Given the description of an element on the screen output the (x, y) to click on. 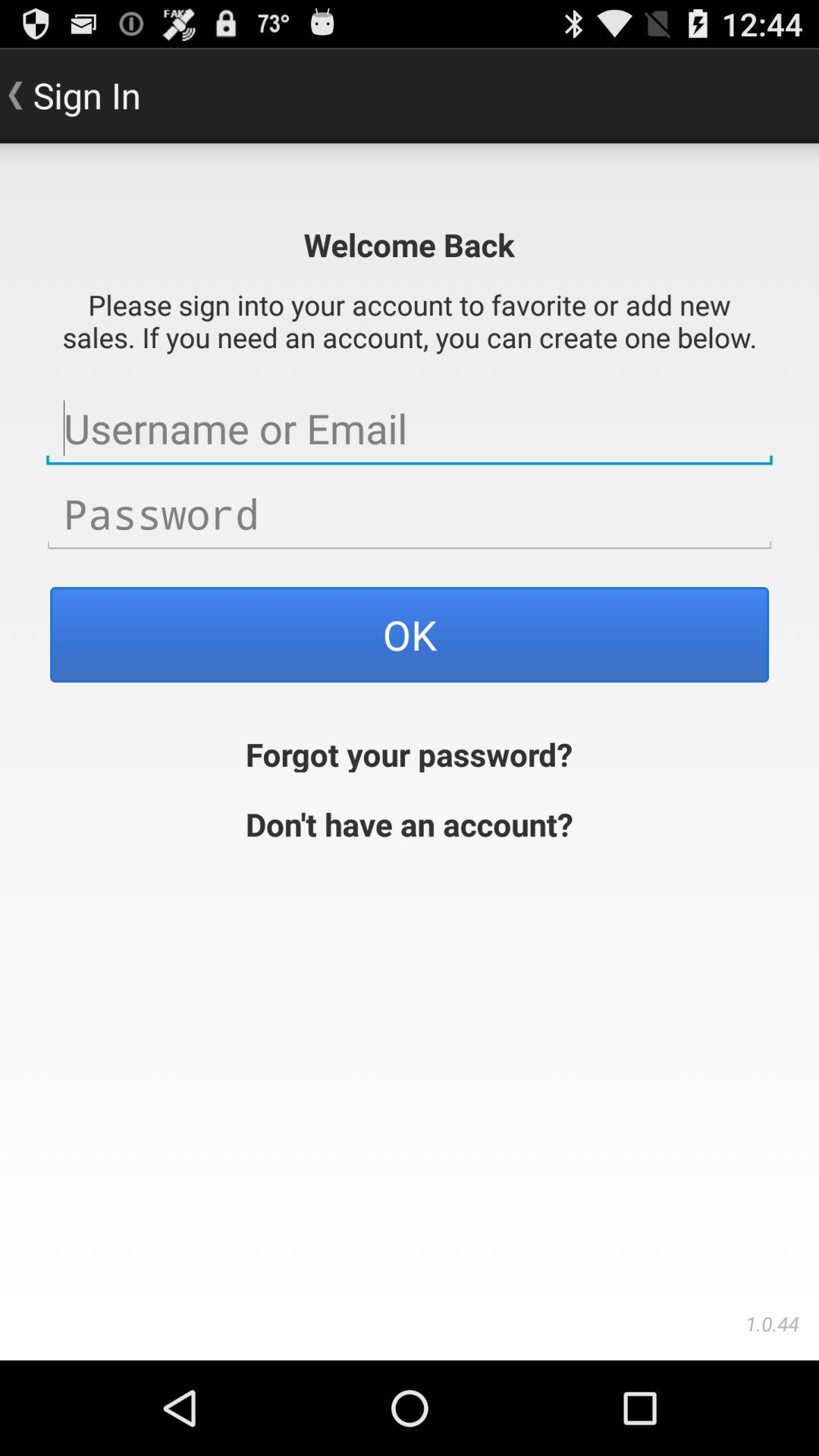
turn on the icon below forgot your password? (409, 822)
